Given the description of an element on the screen output the (x, y) to click on. 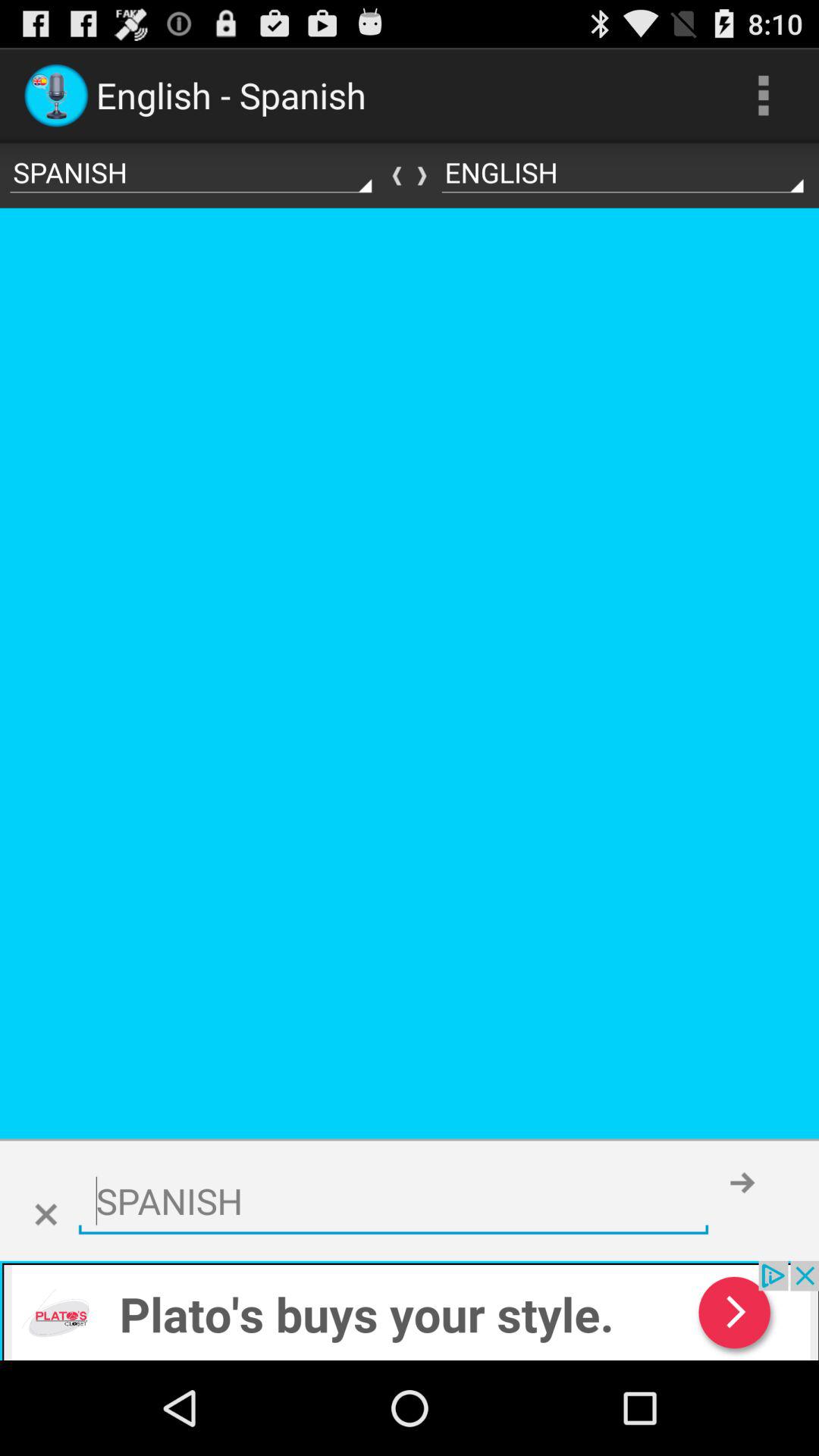
open page (409, 1310)
